Given the description of an element on the screen output the (x, y) to click on. 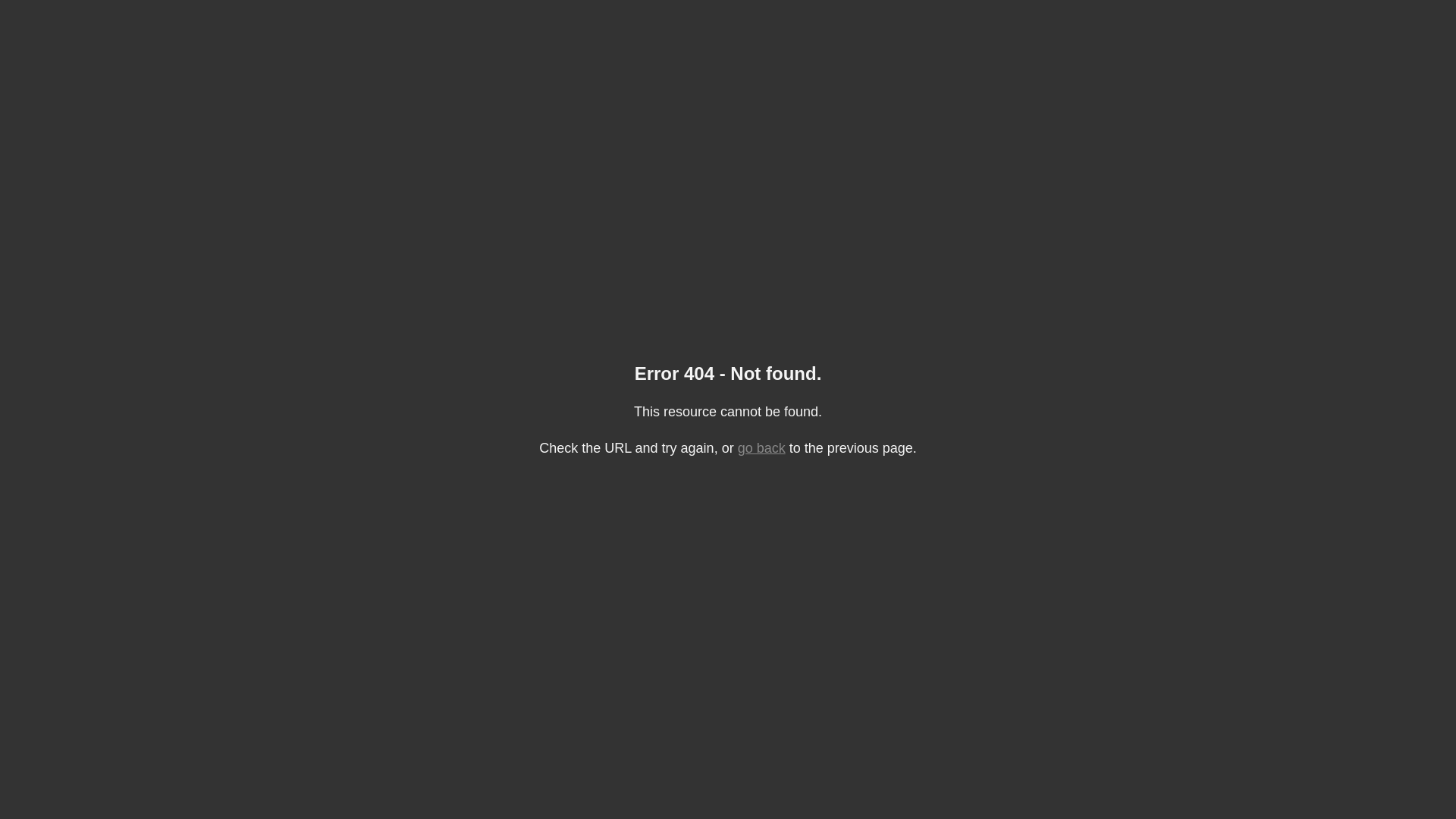
go back Element type: text (761, 447)
